Given the description of an element on the screen output the (x, y) to click on. 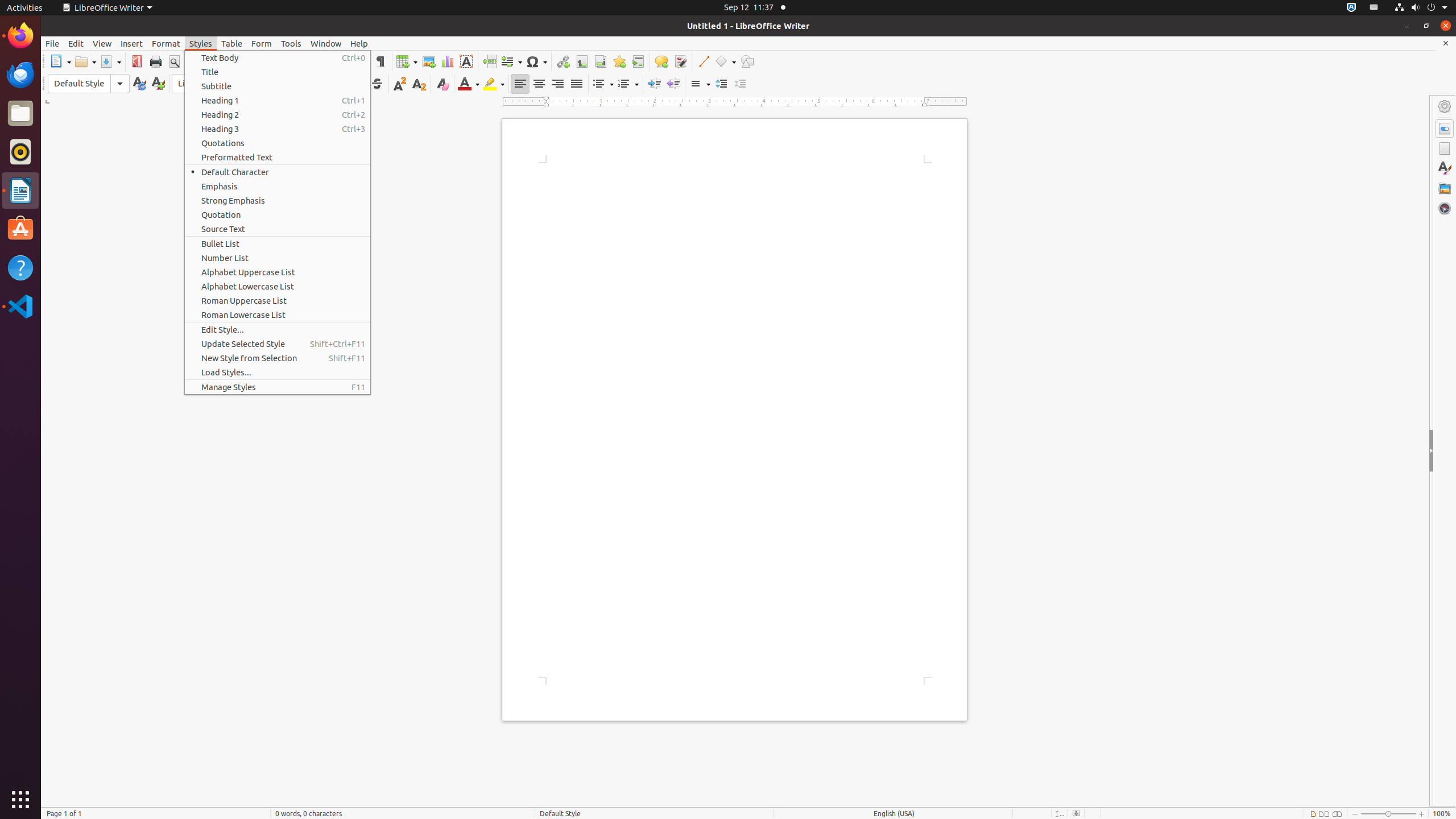
Print Element type: push-button (155, 61)
Left Element type: toggle-button (519, 83)
Ubuntu Software Element type: push-button (20, 229)
Right Element type: toggle-button (557, 83)
File Element type: menu (51, 43)
